Given the description of an element on the screen output the (x, y) to click on. 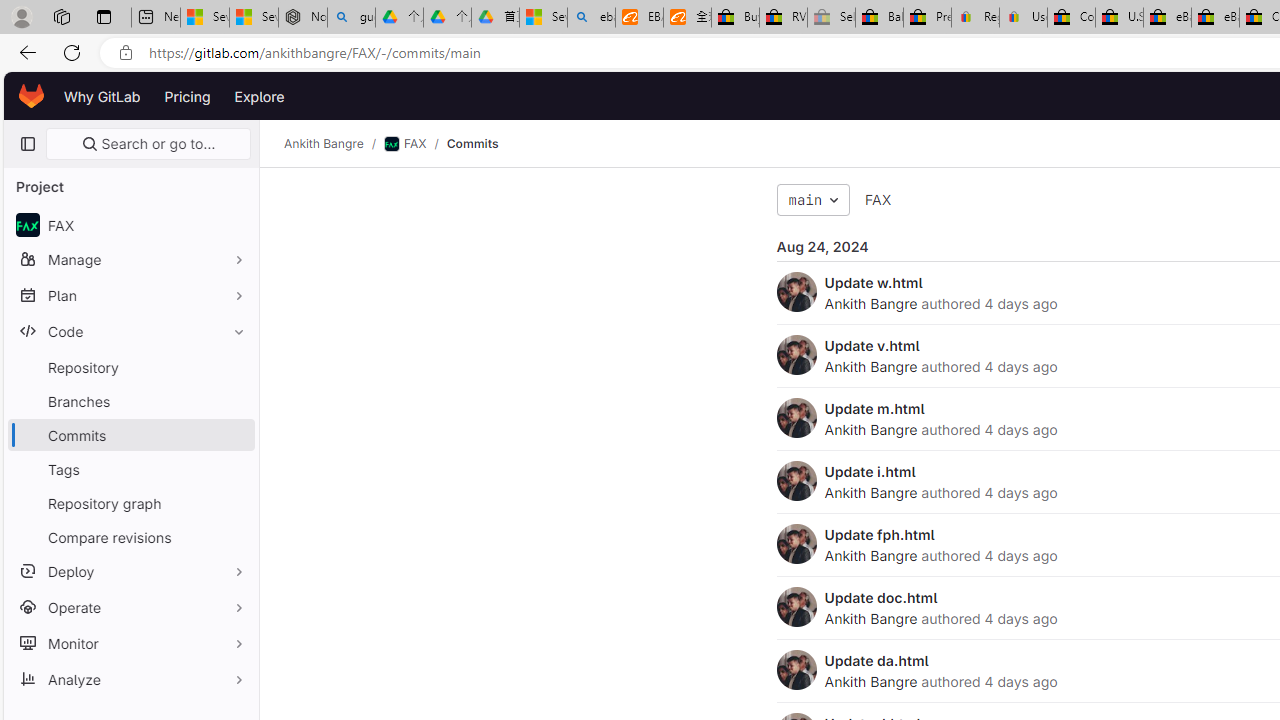
Repository (130, 367)
Explore (259, 95)
Explore (259, 95)
Repository graph (130, 502)
Monitor (130, 642)
Compare revisions (130, 536)
Tags (130, 468)
U.S. State Privacy Disclosures - eBay Inc. (1119, 17)
